Given the description of an element on the screen output the (x, y) to click on. 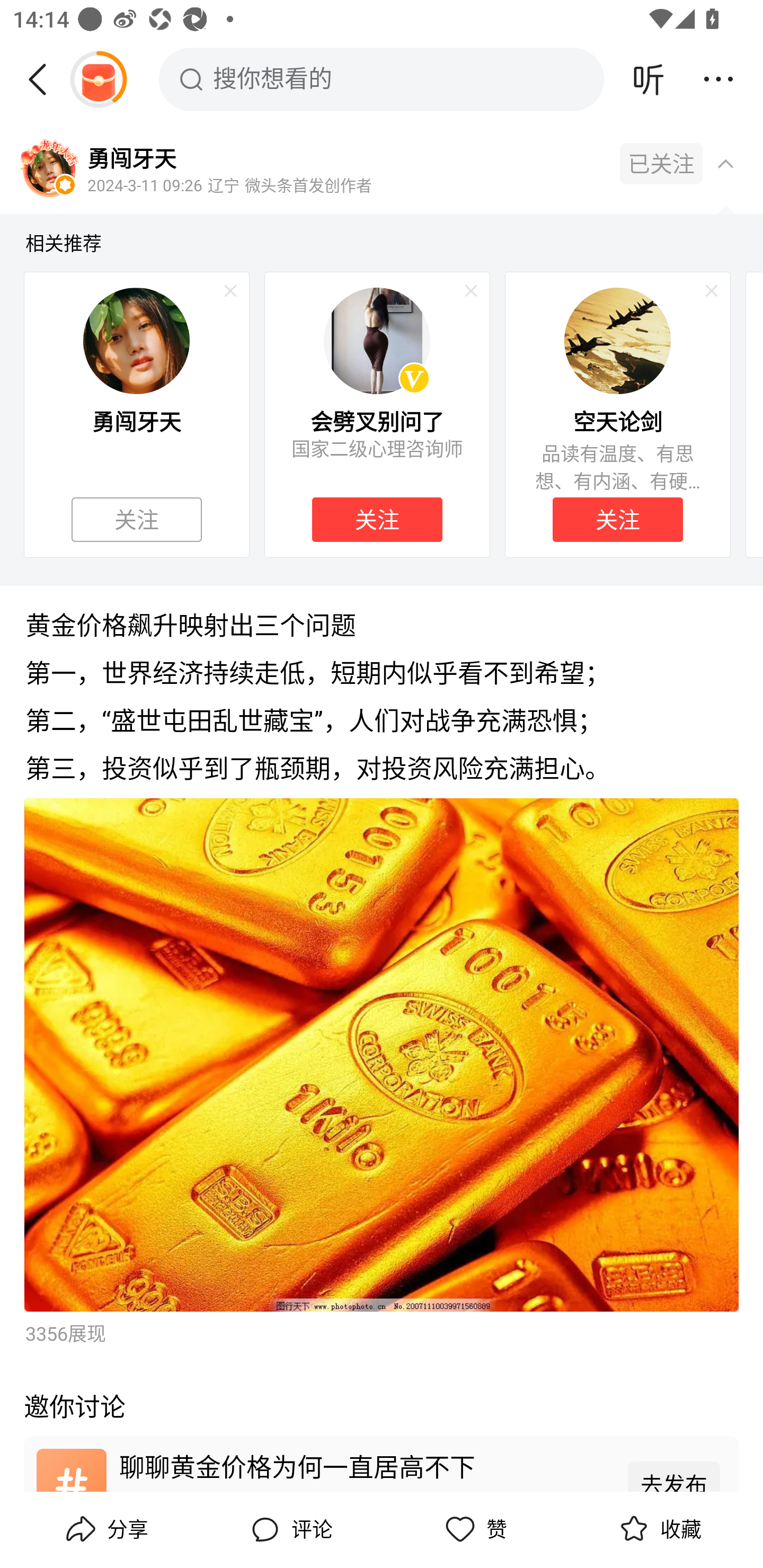
返回 (44, 78)
听头条 (648, 78)
更多操作 (718, 78)
搜你想看的 搜索框，搜你想看的 (381, 79)
阅读赚金币 (98, 79)
勇闯牙天 (131, 157)
已关注 (660, 163)
勇闯牙天头像 (48, 169)
折叠相关作者推荐 (725, 162)
勇闯牙天头像 勇闯牙天 关注 关注 不感兴趣 (136, 414)
不感兴趣 (230, 290)
会劈叉别问了头像 会劈叉别问了 国家二级心理咨询师 关注 关注 不感兴趣 (376, 414)
不感兴趣 (470, 290)
空天论剑头像 空天论剑 品读有温度、有思想、有内涵、有硬度文章 关注 关注 不感兴趣 (617, 414)
不感兴趣 (711, 290)
勇闯牙天头像 (136, 339)
会劈叉别问了头像 (376, 339)
空天论剑头像 (617, 339)
关注 (136, 519)
关注 (136, 519)
关注 (377, 519)
关注 (617, 519)
内容图片 (381, 1055)
聊聊黄金价格为何一直居高不下:说说你的看法::按钮 (381, 1463)
分享 (104, 1529)
评论, 评论 (288, 1529)
,收藏 收藏 (658, 1529)
